Given the description of an element on the screen output the (x, y) to click on. 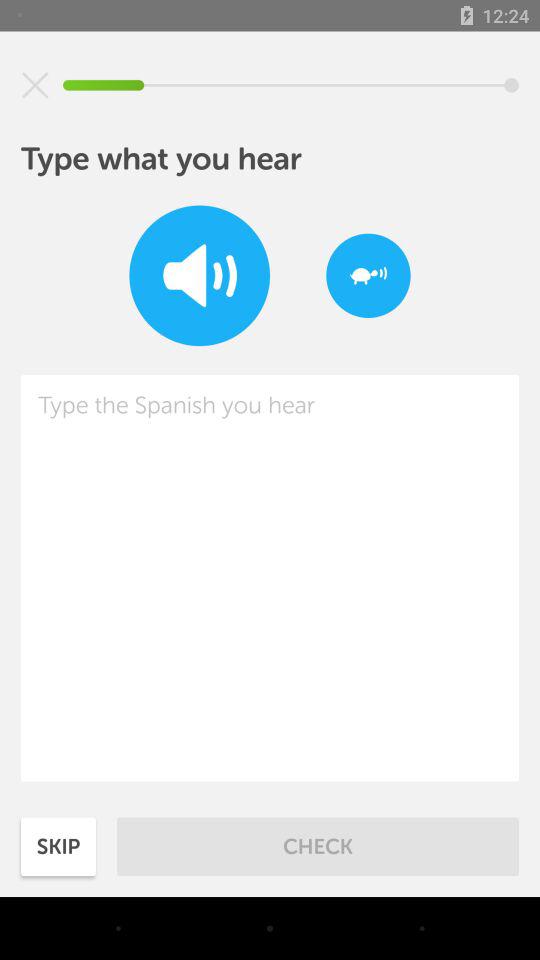
scroll until skip (58, 846)
